Given the description of an element on the screen output the (x, y) to click on. 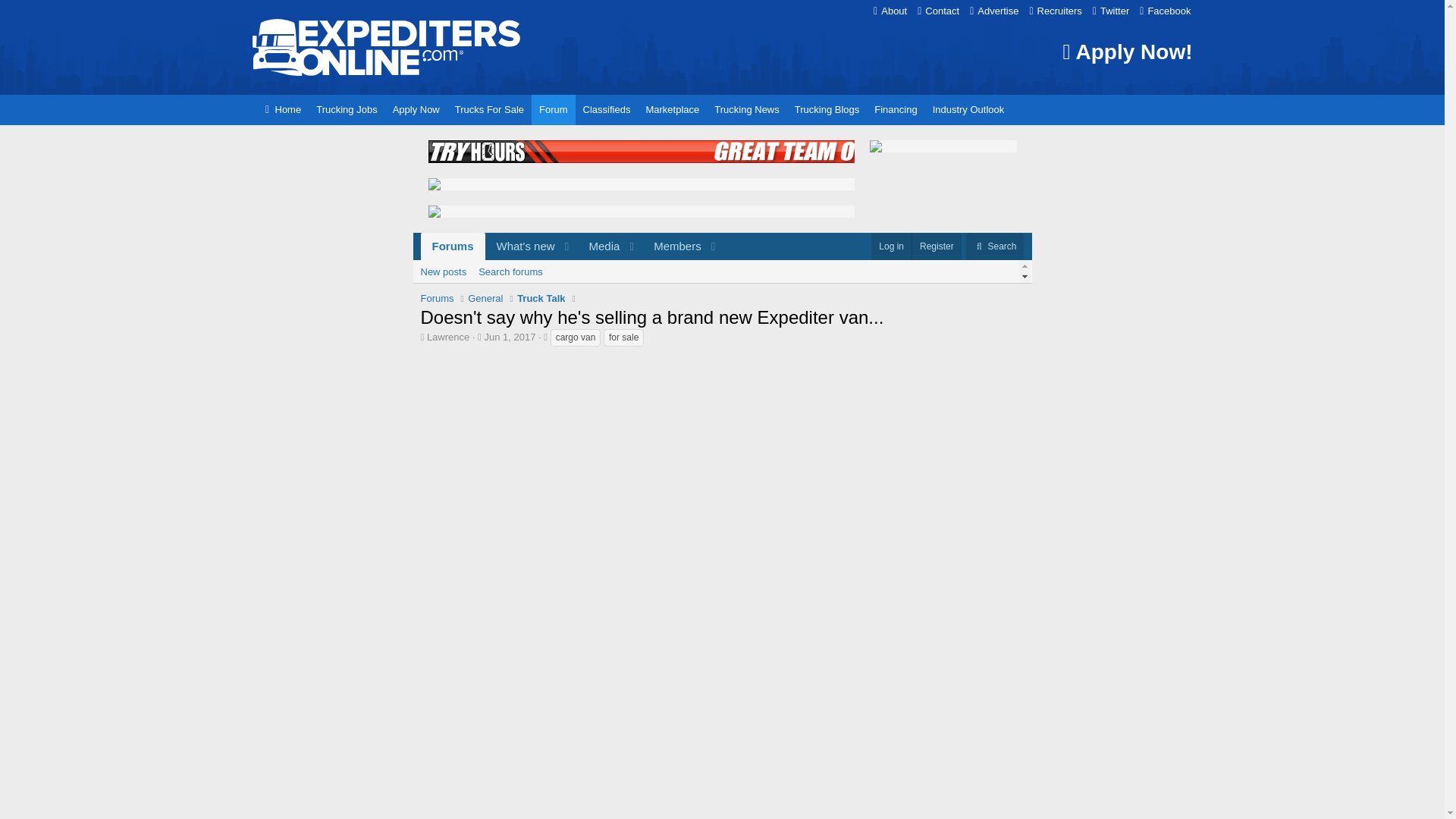
Contact (937, 11)
Facebook (1164, 11)
Search (995, 246)
Forums (571, 246)
Advertise (571, 246)
Trucking Jobs (452, 246)
About (993, 11)
Trucking News (346, 110)
